Given the description of an element on the screen output the (x, y) to click on. 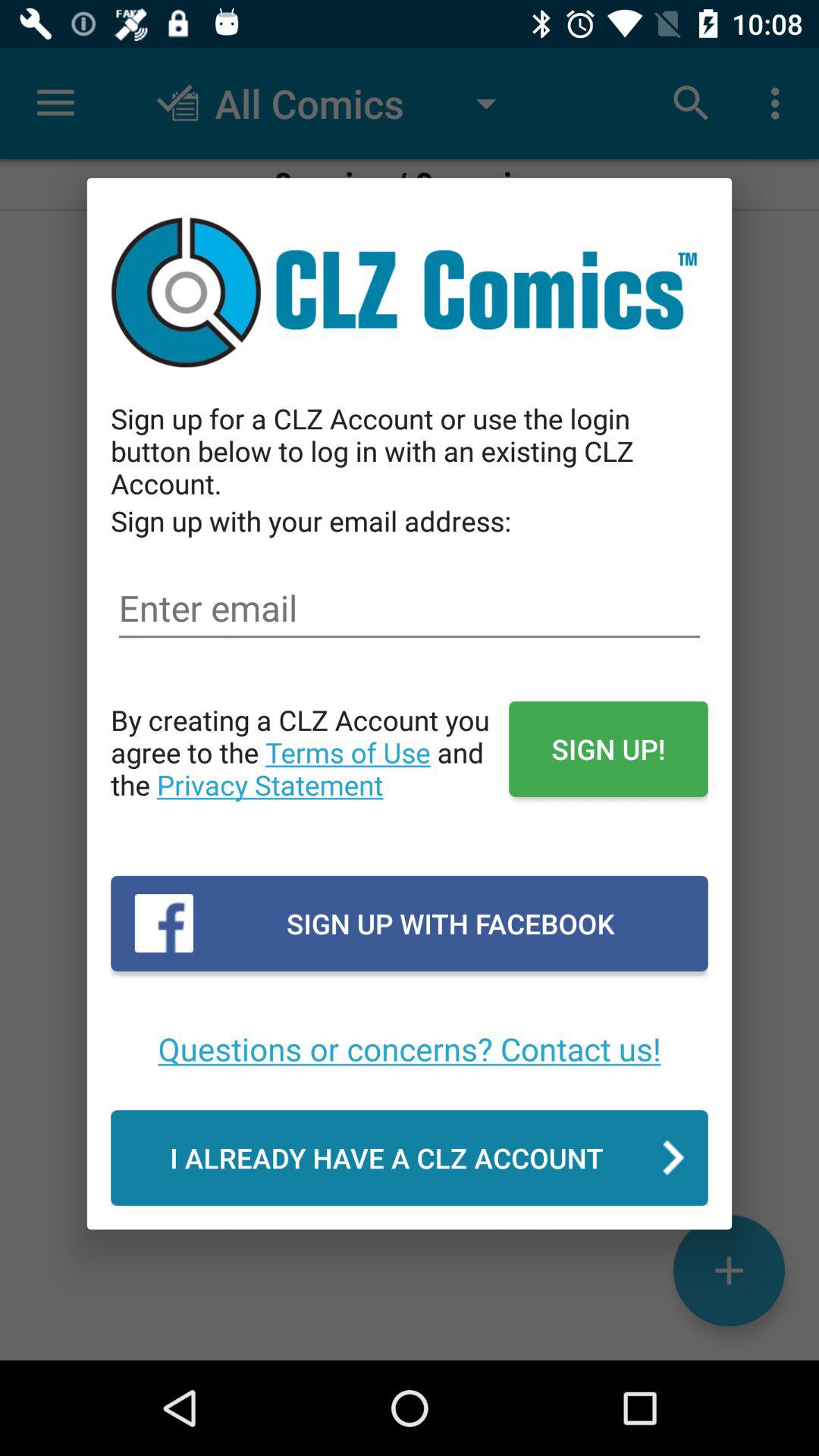
click the icon above the sign up with item (309, 768)
